Given the description of an element on the screen output the (x, y) to click on. 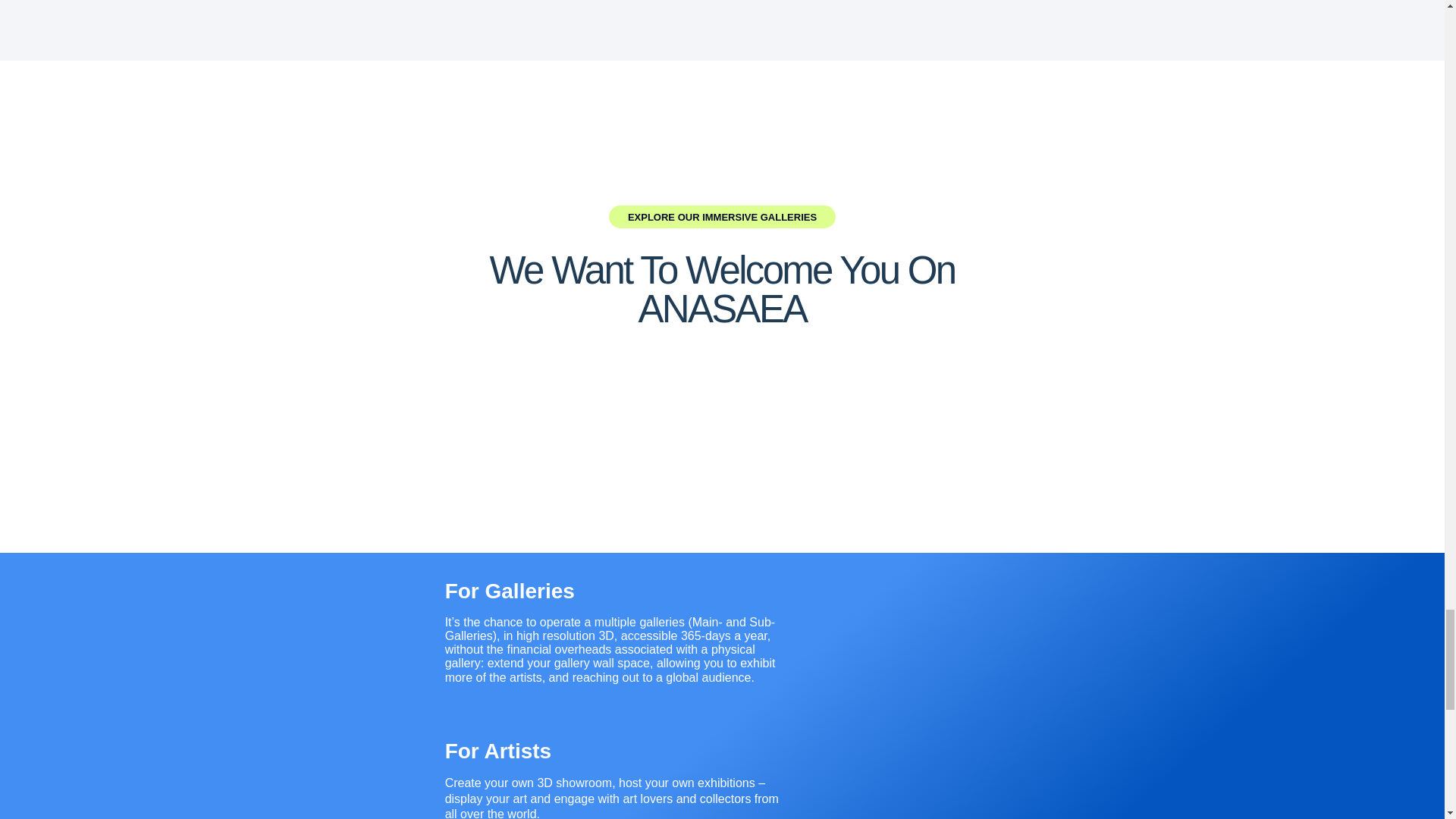
Page 4 (617, 649)
Page 4 (617, 797)
